Given the description of an element on the screen output the (x, y) to click on. 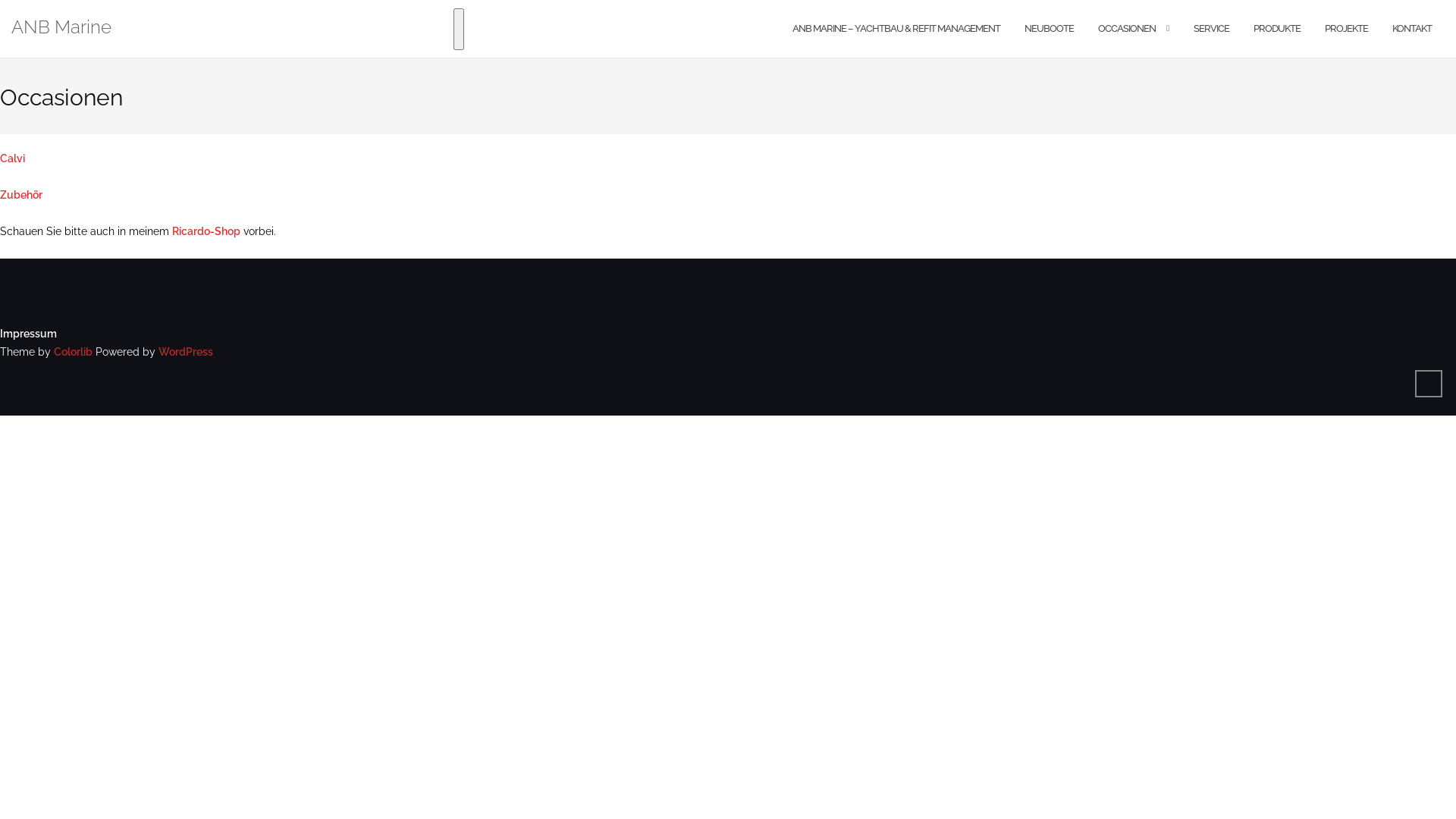
Ricardo-Shop Element type: text (206, 231)
OCCASIONEN Element type: text (1126, 28)
SERVICE Element type: text (1211, 28)
Colorlib Element type: text (72, 351)
ANB Marine Element type: text (61, 28)
Skip to content Element type: text (0, 0)
KONTAKT Element type: text (1411, 28)
Impressum Element type: text (28, 333)
Calvi Element type: text (12, 158)
PRODUKTE Element type: text (1276, 28)
WordPress Element type: text (185, 351)
NEUBOOTE Element type: text (1048, 28)
PROJEKTE Element type: text (1346, 28)
